Given the description of an element on the screen output the (x, y) to click on. 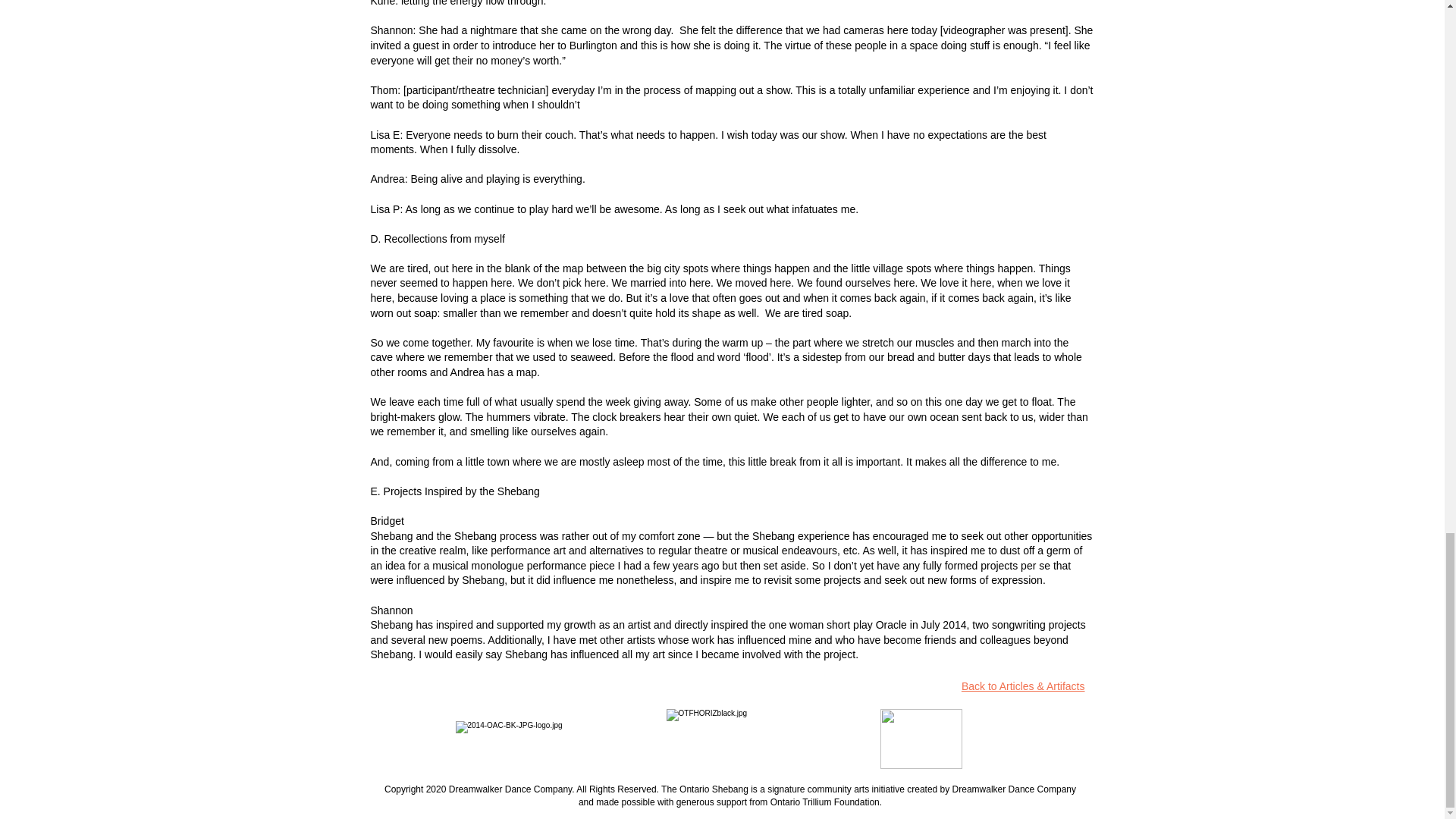
DDC logo.jpg (919, 739)
